Given the description of an element on the screen output the (x, y) to click on. 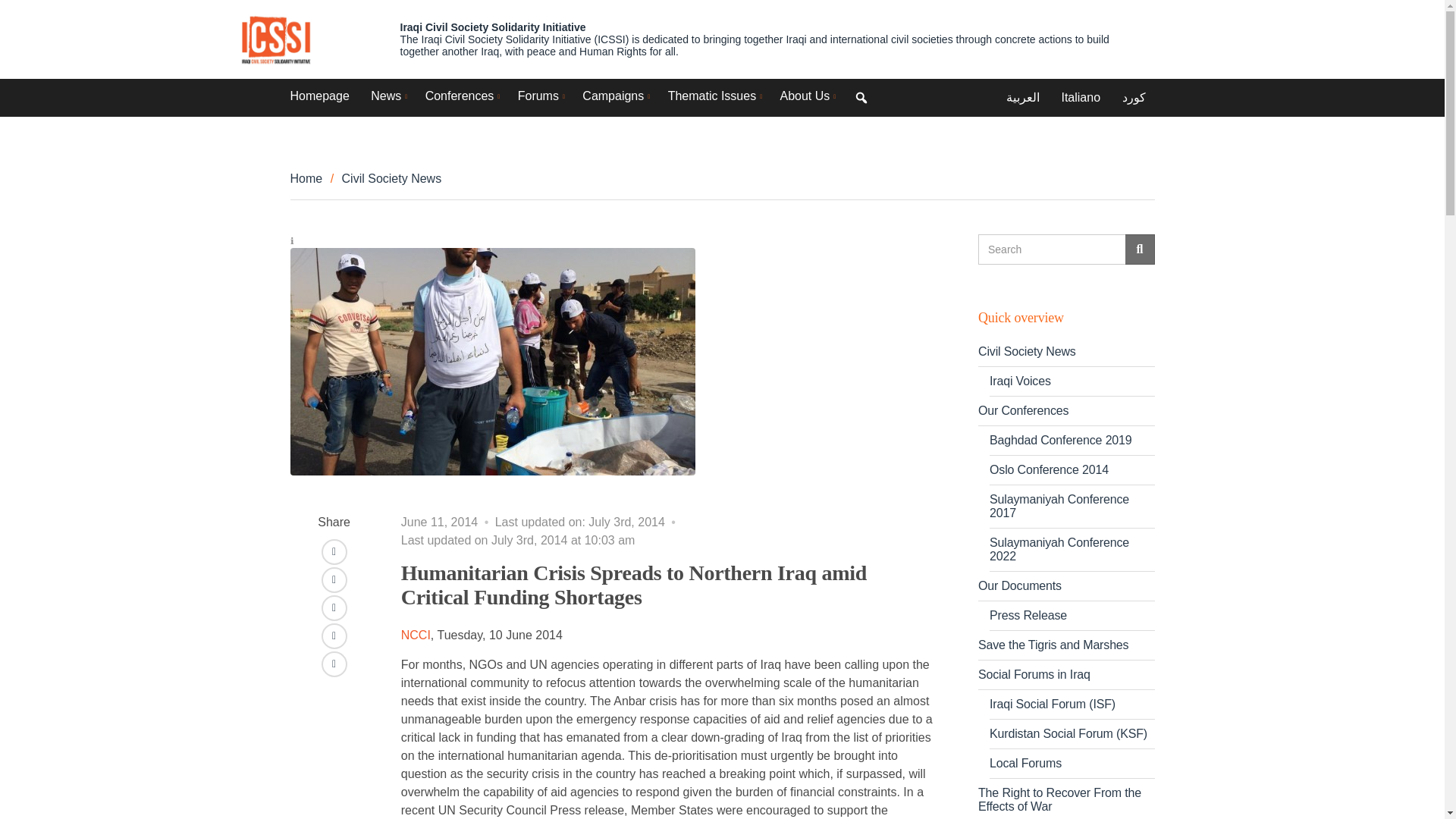
Homepage (319, 95)
Campaigns (614, 95)
Thematic Issues (713, 95)
Forums (539, 95)
Conferences (460, 95)
News (387, 95)
